Given the description of an element on the screen output the (x, y) to click on. 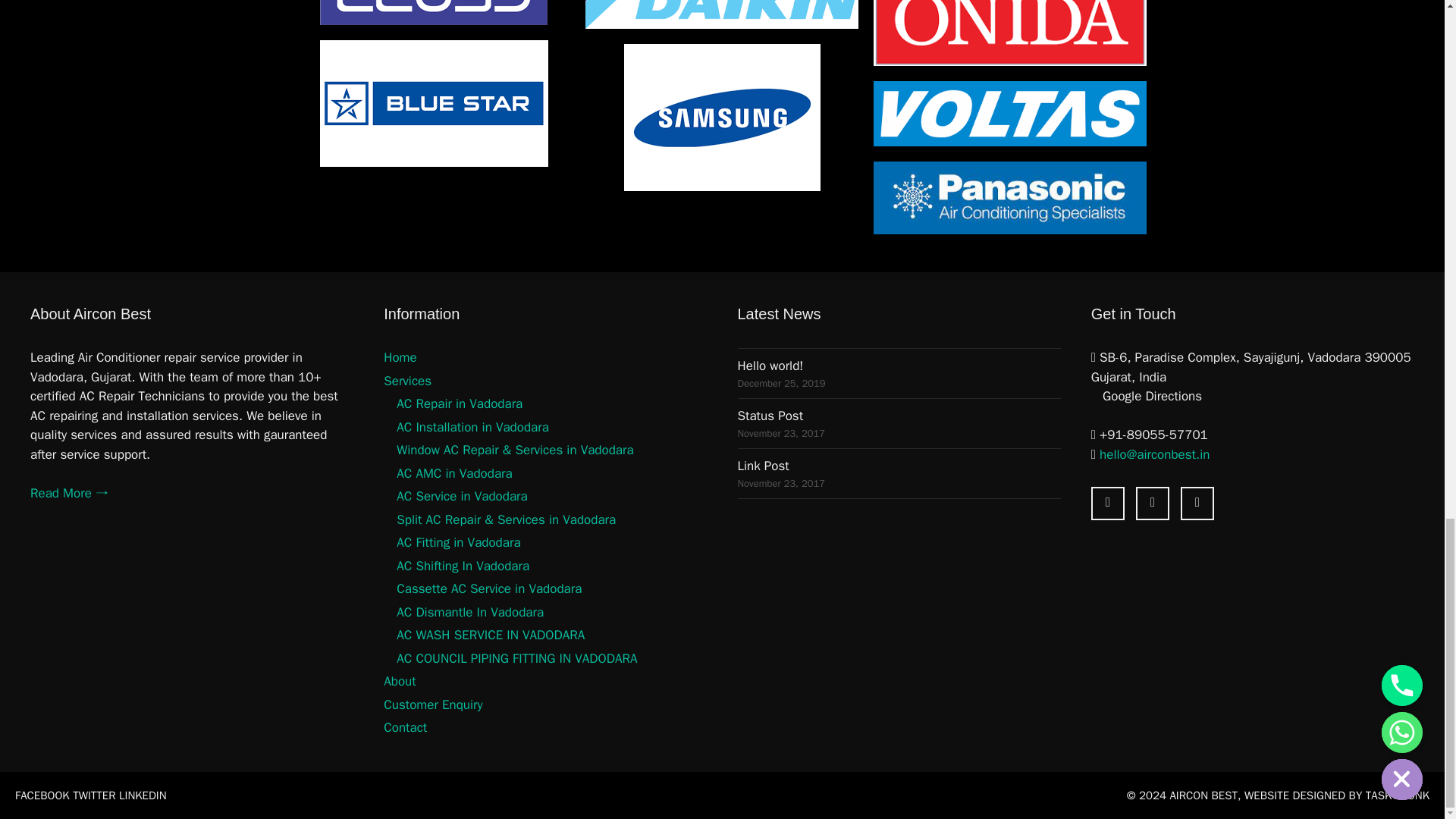
AC WASH SERVICE IN VADODARA (490, 634)
Cassette AC Service in Vadodara (488, 588)
Contact (405, 727)
AC Fitting in Vadodara (457, 542)
Hello world! (897, 365)
AC Repair in Vadodara (459, 403)
Services (407, 381)
AC Service in Vadodara (461, 496)
AC COUNCIL PIPING FITTING IN VADODARA (516, 658)
About (399, 681)
AC Dismantle In Vadodara (469, 611)
AC AMC in Vadodara (454, 473)
AC Shifting In Vadodara (462, 565)
Home (400, 357)
Customer Enquiry (432, 704)
